Given the description of an element on the screen output the (x, y) to click on. 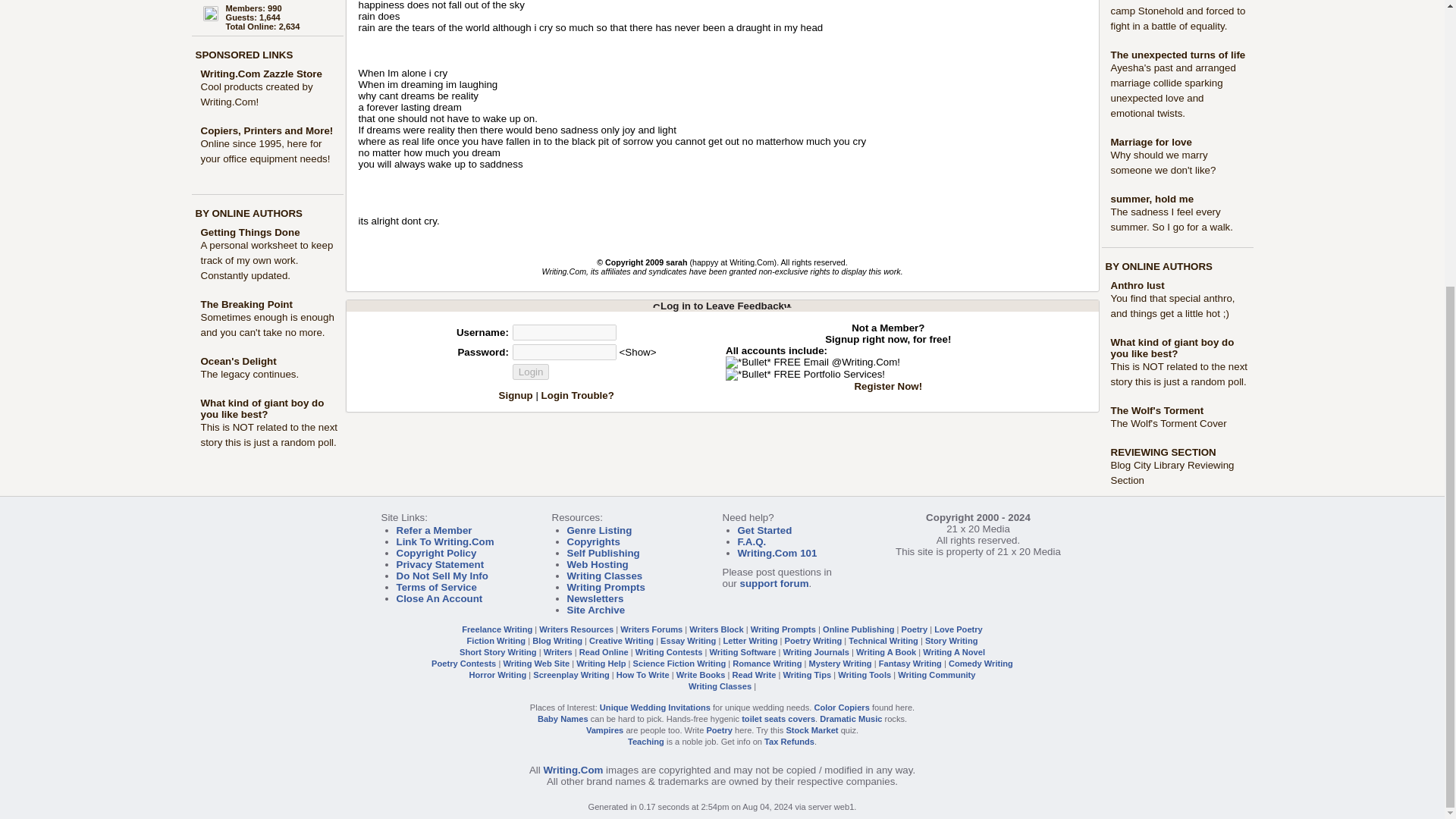
Login (531, 371)
